Given the description of an element on the screen output the (x, y) to click on. 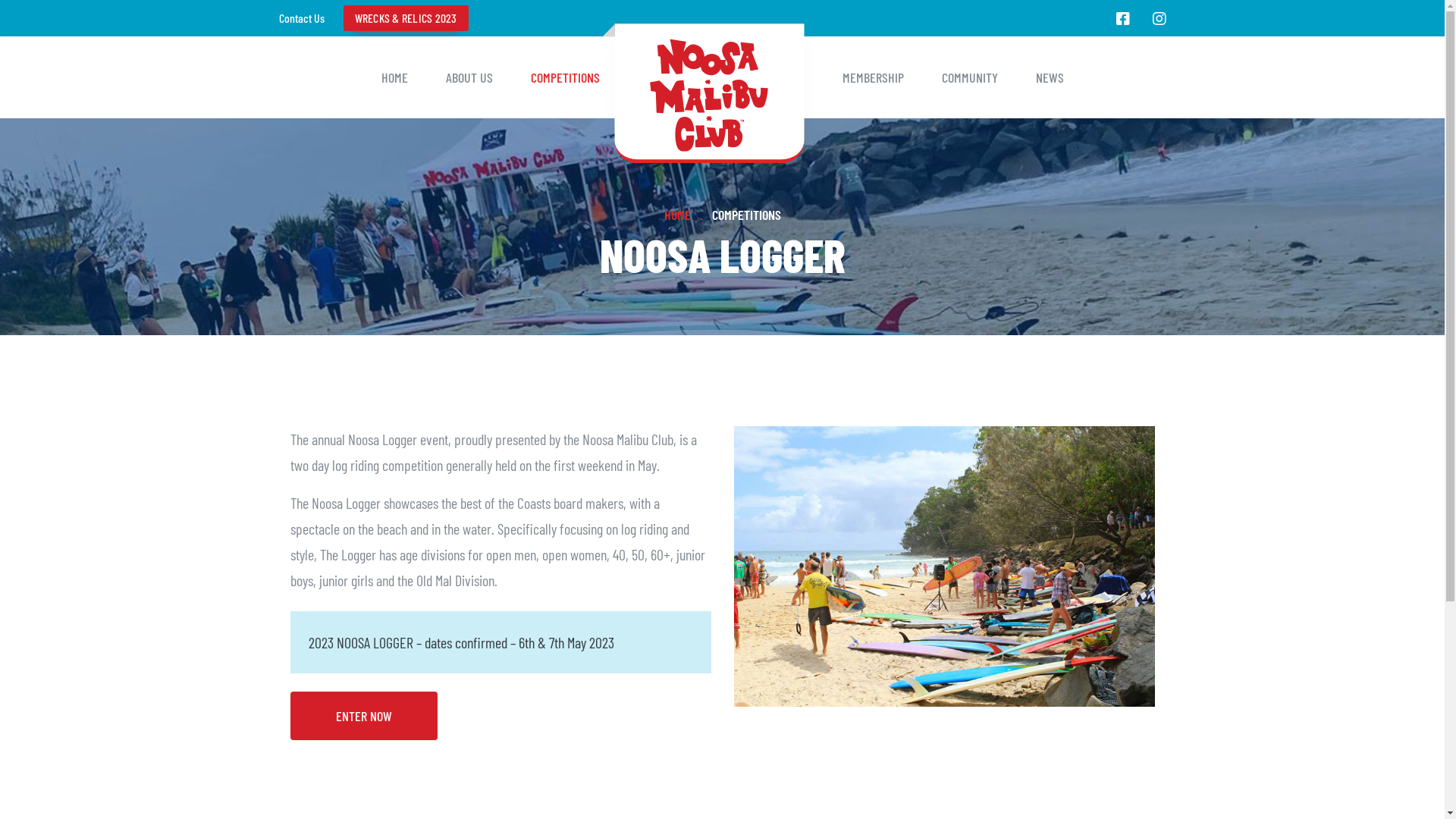
COMMUNITY Element type: text (969, 77)
ENTER NOW Element type: text (362, 713)
COMPETITIONS Element type: text (745, 214)
MEMBERSHIP Element type: text (872, 77)
HOME Element type: text (393, 77)
Contact Us Element type: text (301, 18)
WRECKS & RELICS 2023 Element type: text (404, 18)
ABOUT US Element type: text (468, 77)
COMPETITIONS Element type: text (564, 77)
NEWS Element type: text (1049, 77)
HOME Element type: text (677, 214)
